Given the description of an element on the screen output the (x, y) to click on. 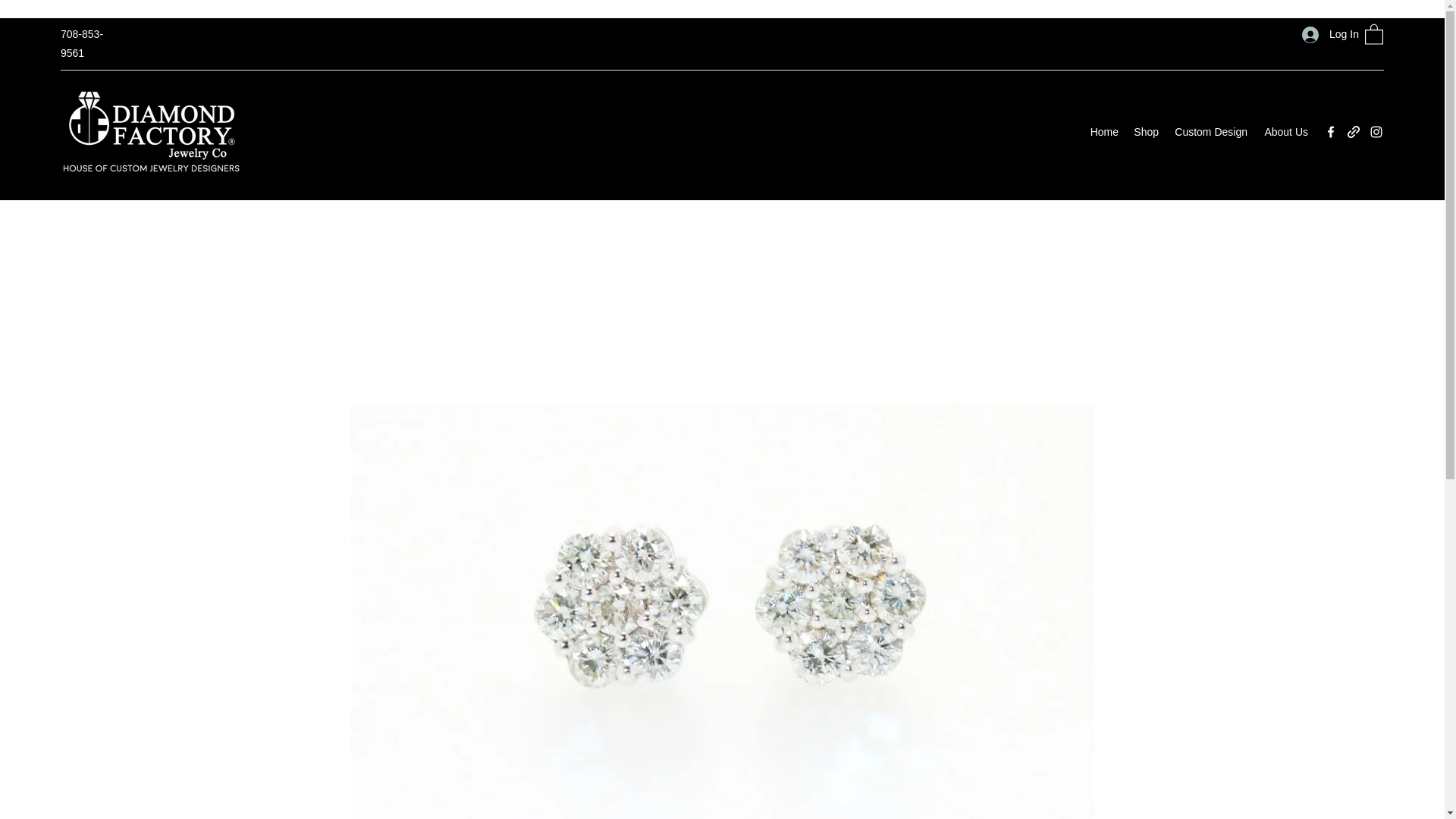
Home (1103, 131)
Log In (1325, 34)
Shop (1145, 131)
About Us (1285, 131)
Custom Design (1210, 131)
